Given the description of an element on the screen output the (x, y) to click on. 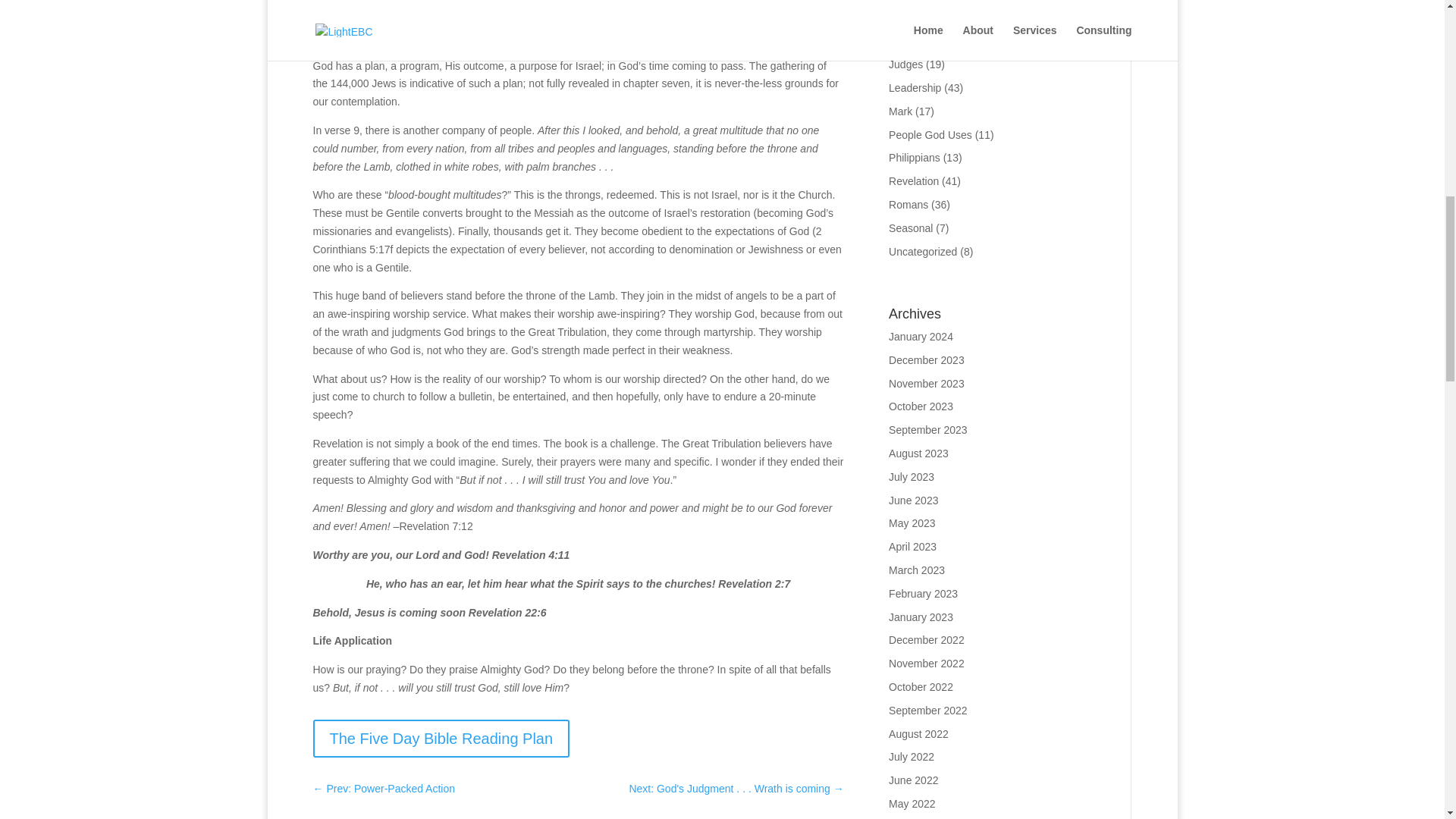
November 2023 (925, 383)
Mark (900, 111)
Seasonal (910, 227)
John (899, 40)
January 2024 (920, 336)
Uncategorized (922, 251)
People God Uses (930, 134)
Romans (908, 204)
Judges (905, 64)
